Given the description of an element on the screen output the (x, y) to click on. 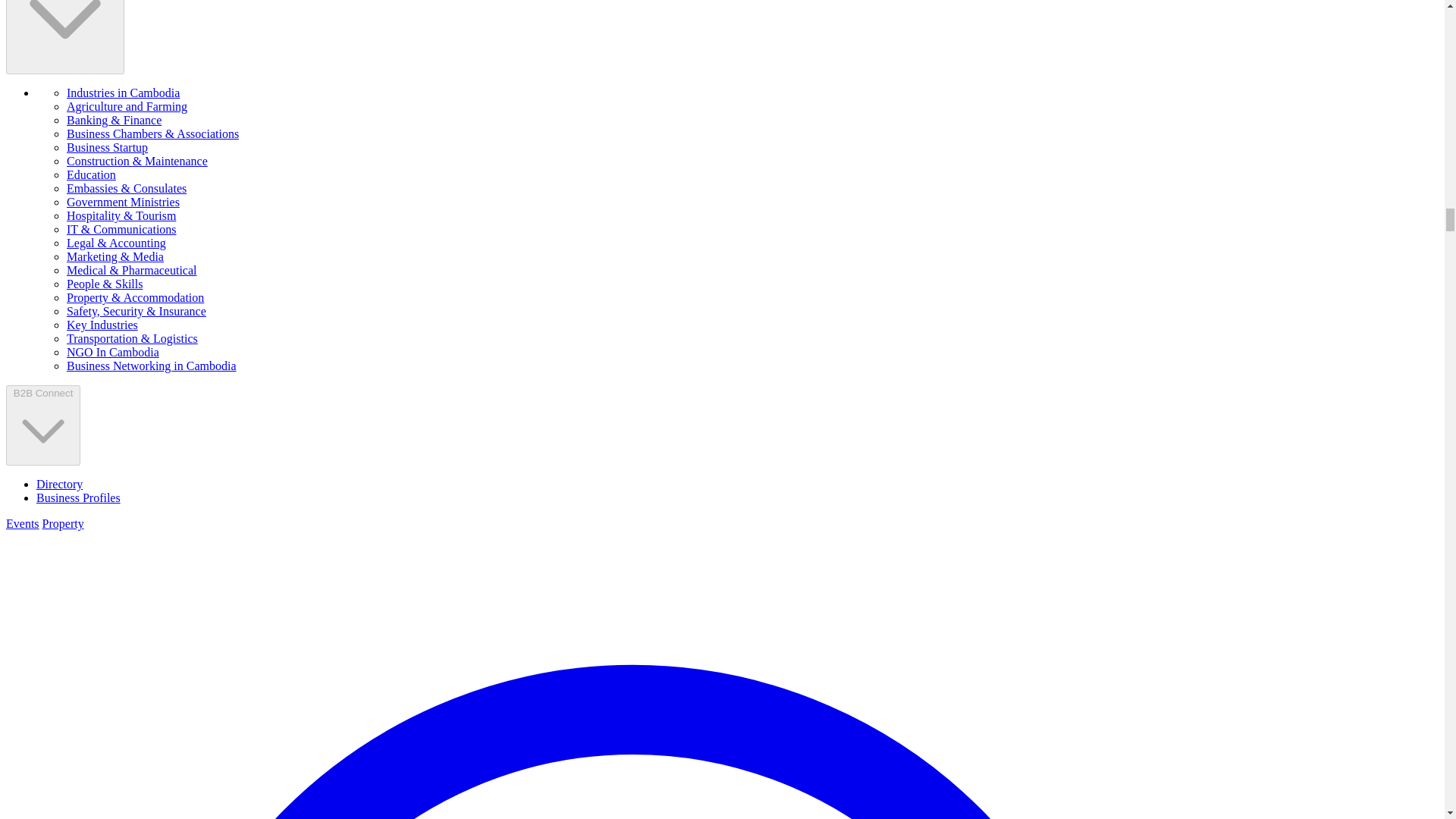
Industries in Cambodia (64, 37)
Industries in Cambodia (122, 92)
Agriculture and Farming (126, 106)
